Given the description of an element on the screen output the (x, y) to click on. 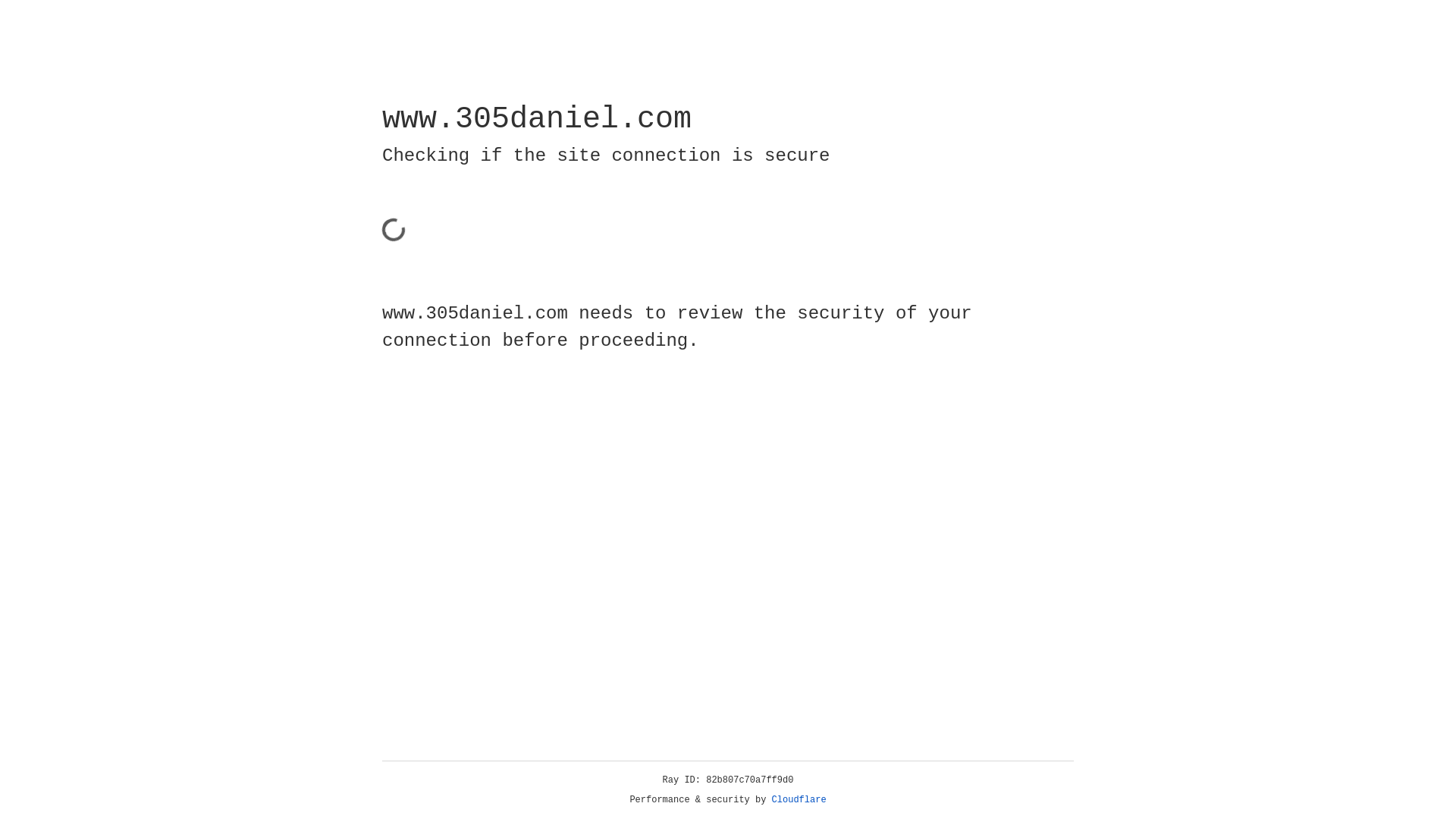
Cloudflare Element type: text (798, 799)
